Given the description of an element on the screen output the (x, y) to click on. 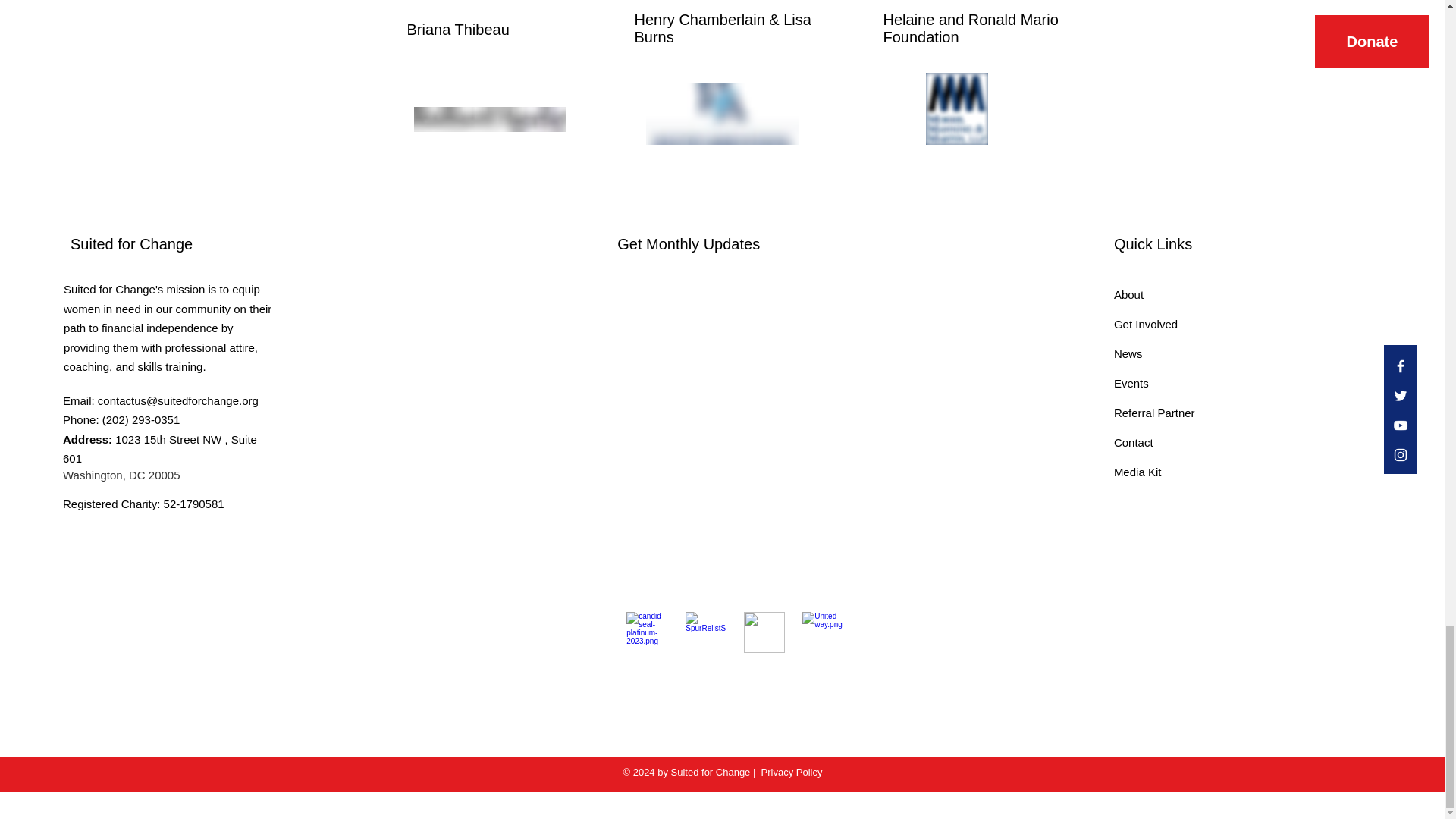
Spur Local Critical Nonprofit (705, 631)
The Alliance of Career Development Nonprofits (764, 631)
